Given the description of an element on the screen output the (x, y) to click on. 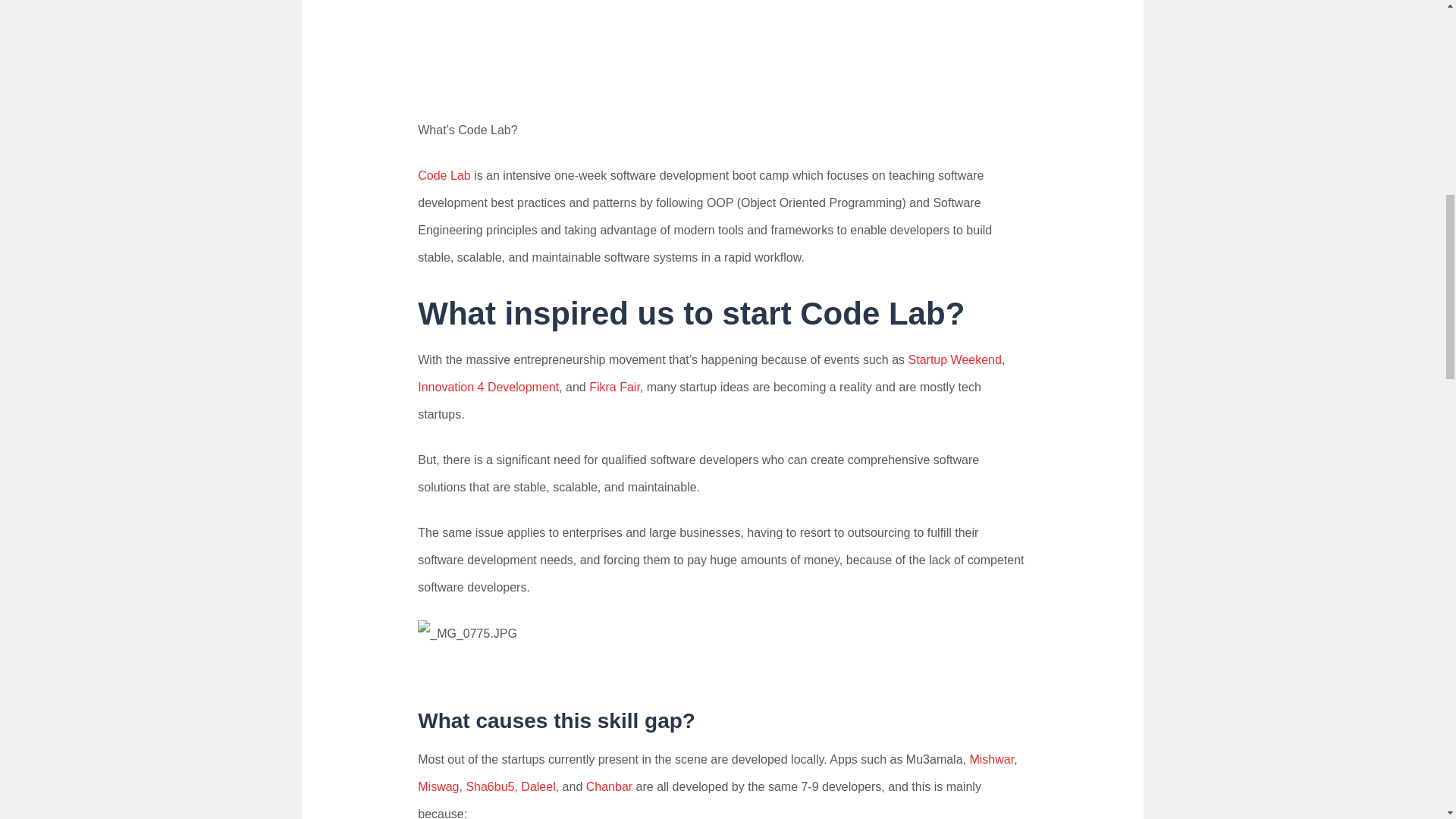
Sha6bu5, (491, 786)
Miswag (437, 786)
Innovation 4 Development (488, 386)
Fikra Fair (614, 386)
Mishwar (991, 758)
Daleel (537, 786)
Startup Weekend (954, 359)
Code Lab (443, 174)
Chanbar (608, 786)
